Given the description of an element on the screen output the (x, y) to click on. 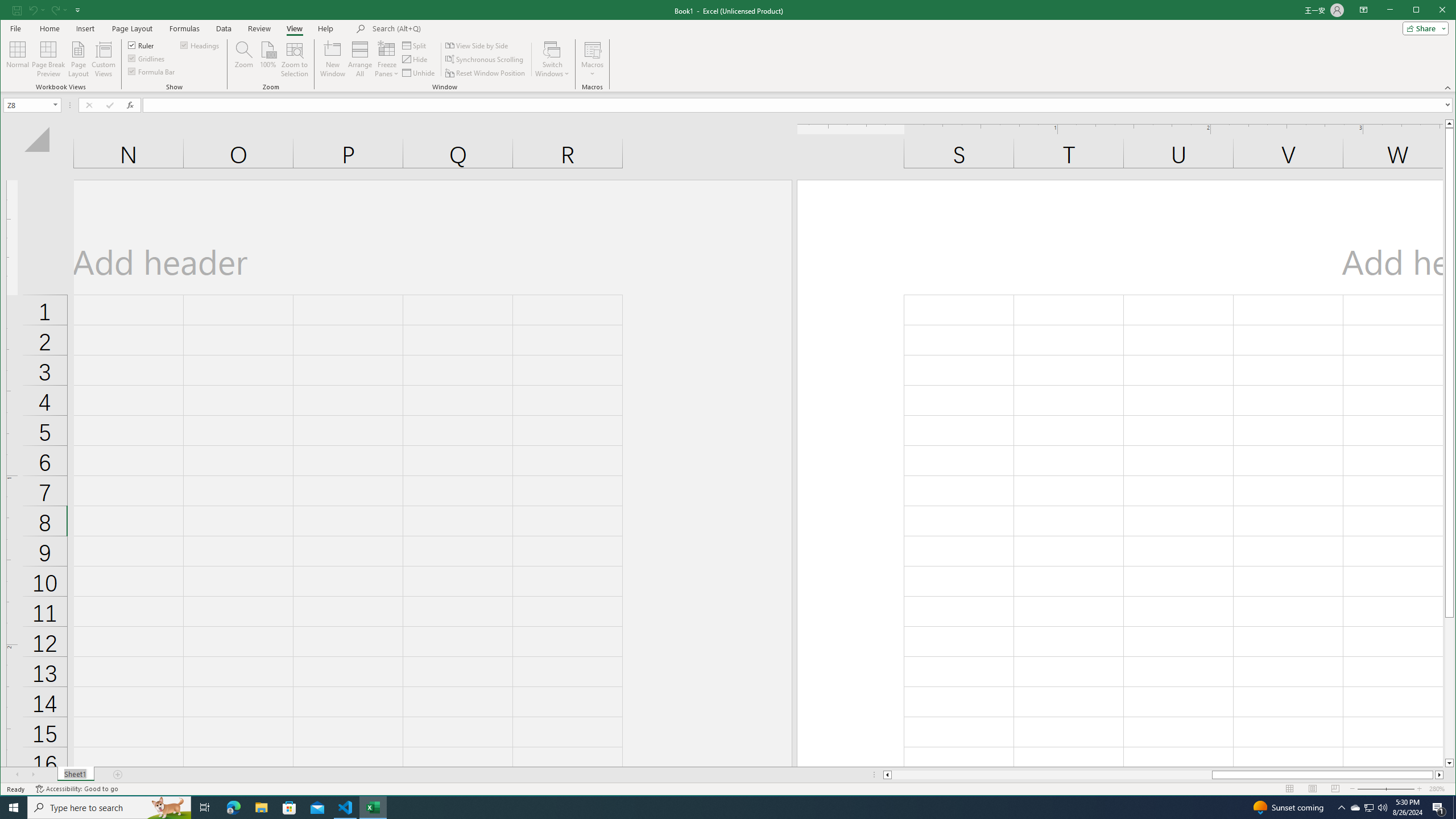
Synchronous Scrolling (485, 59)
